Given the description of an element on the screen output the (x, y) to click on. 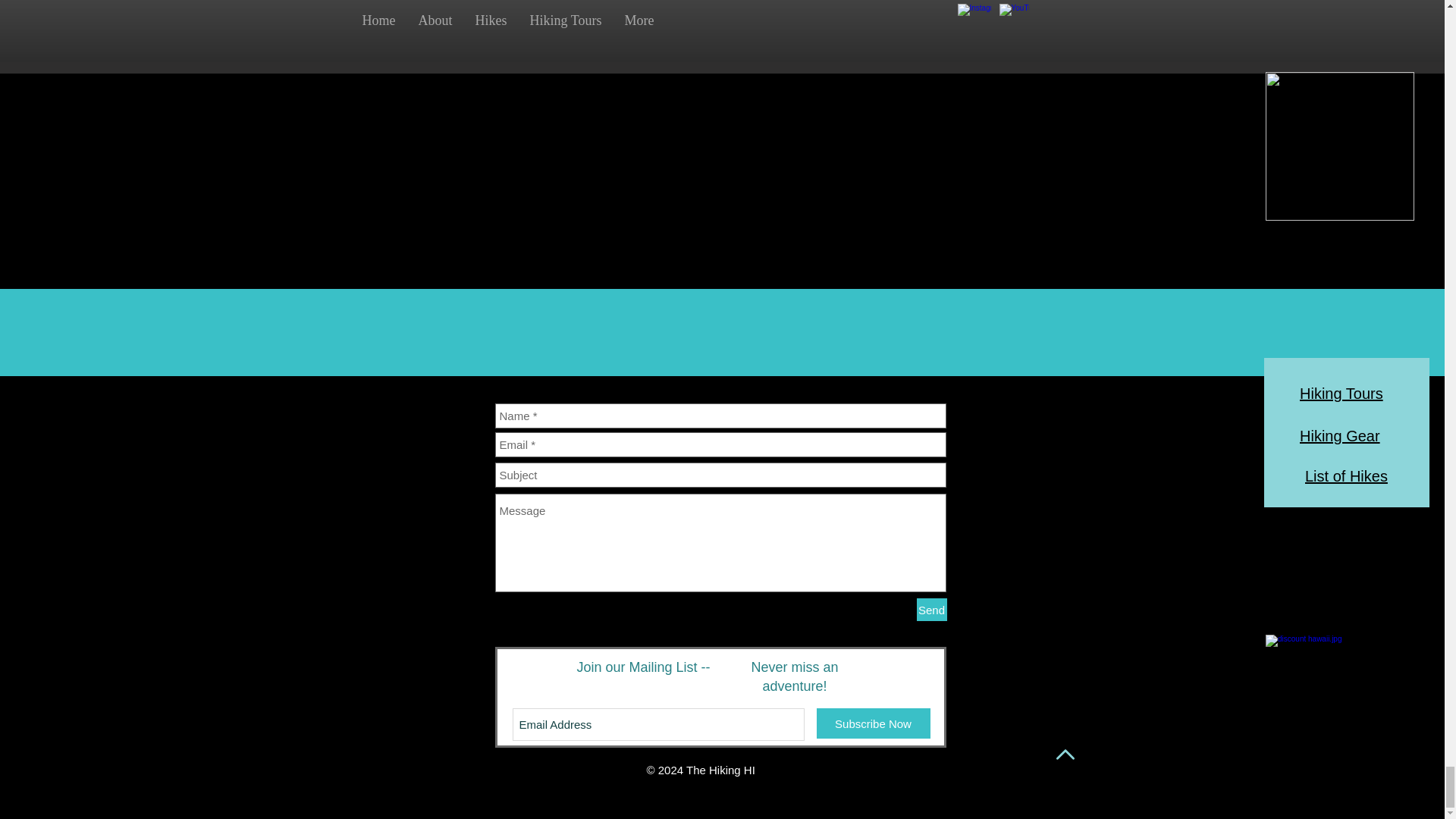
Send (930, 609)
Subscribe Now (872, 723)
